Given the description of an element on the screen output the (x, y) to click on. 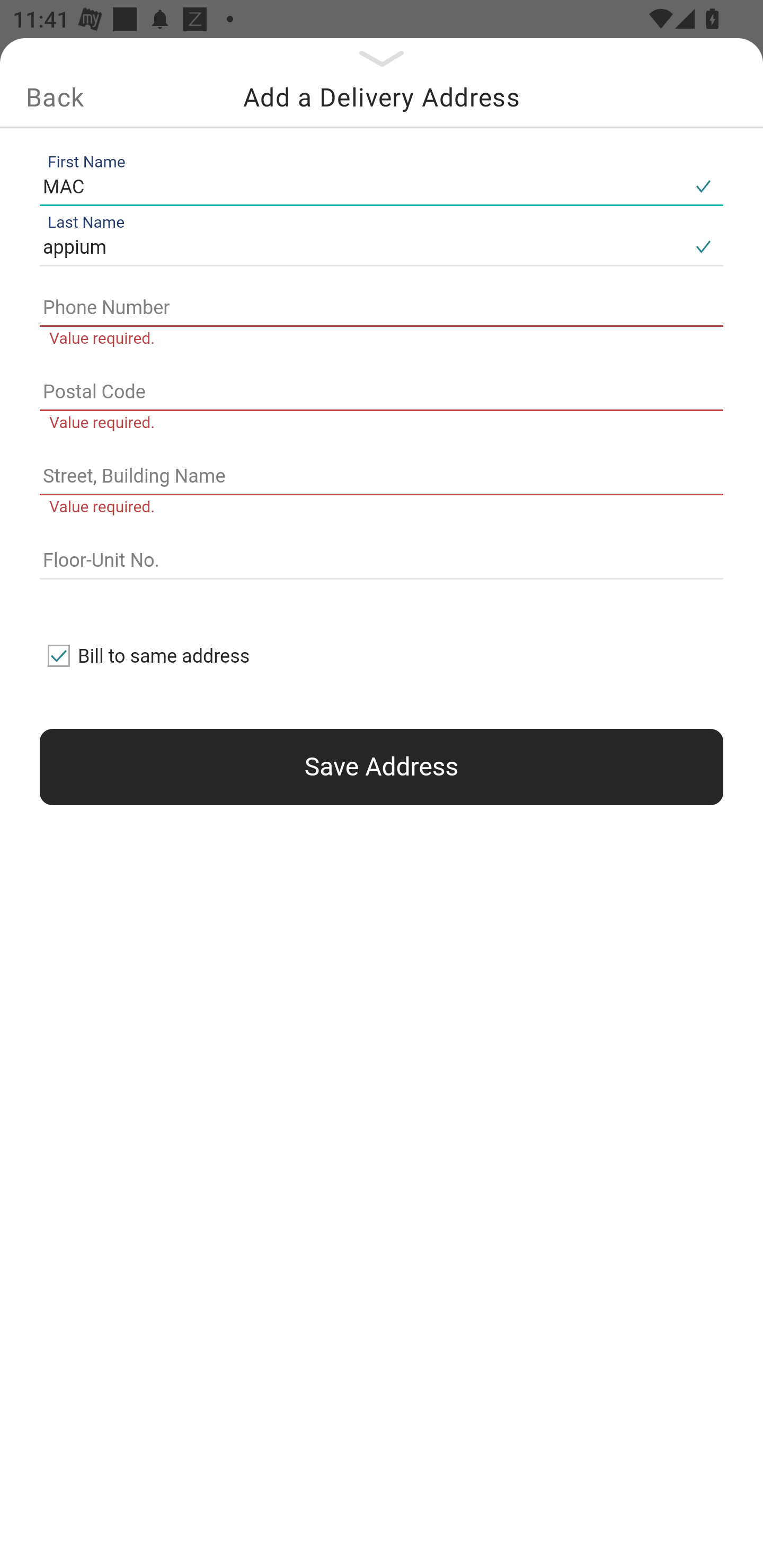
Back (54, 96)
Add a Delivery Address (381, 96)
MAC (361, 186)
appium (361, 247)
Save Address (381, 767)
